Given the description of an element on the screen output the (x, y) to click on. 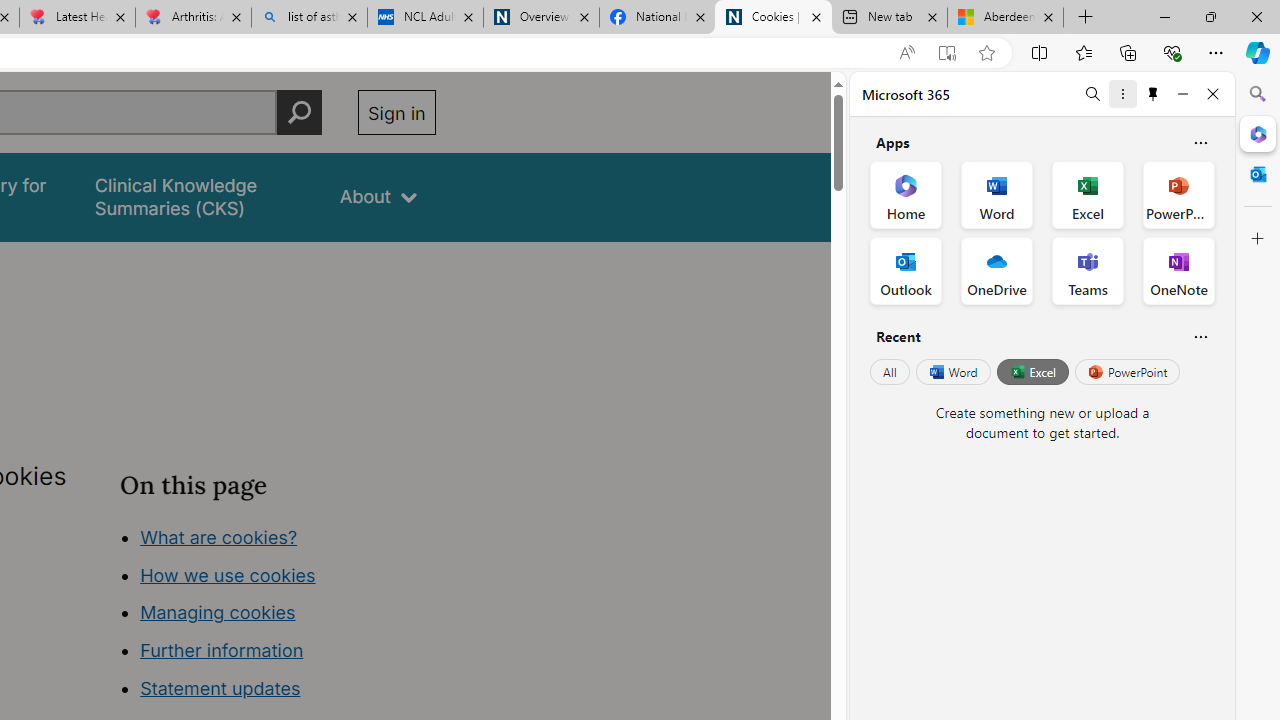
Word Office App (996, 194)
Unpin side pane (1153, 93)
Aberdeen, Hong Kong SAR hourly forecast | Microsoft Weather (1005, 17)
All (890, 372)
Home Office App (906, 194)
OneDrive Office App (996, 270)
Statement updates (219, 688)
